Given the description of an element on the screen output the (x, y) to click on. 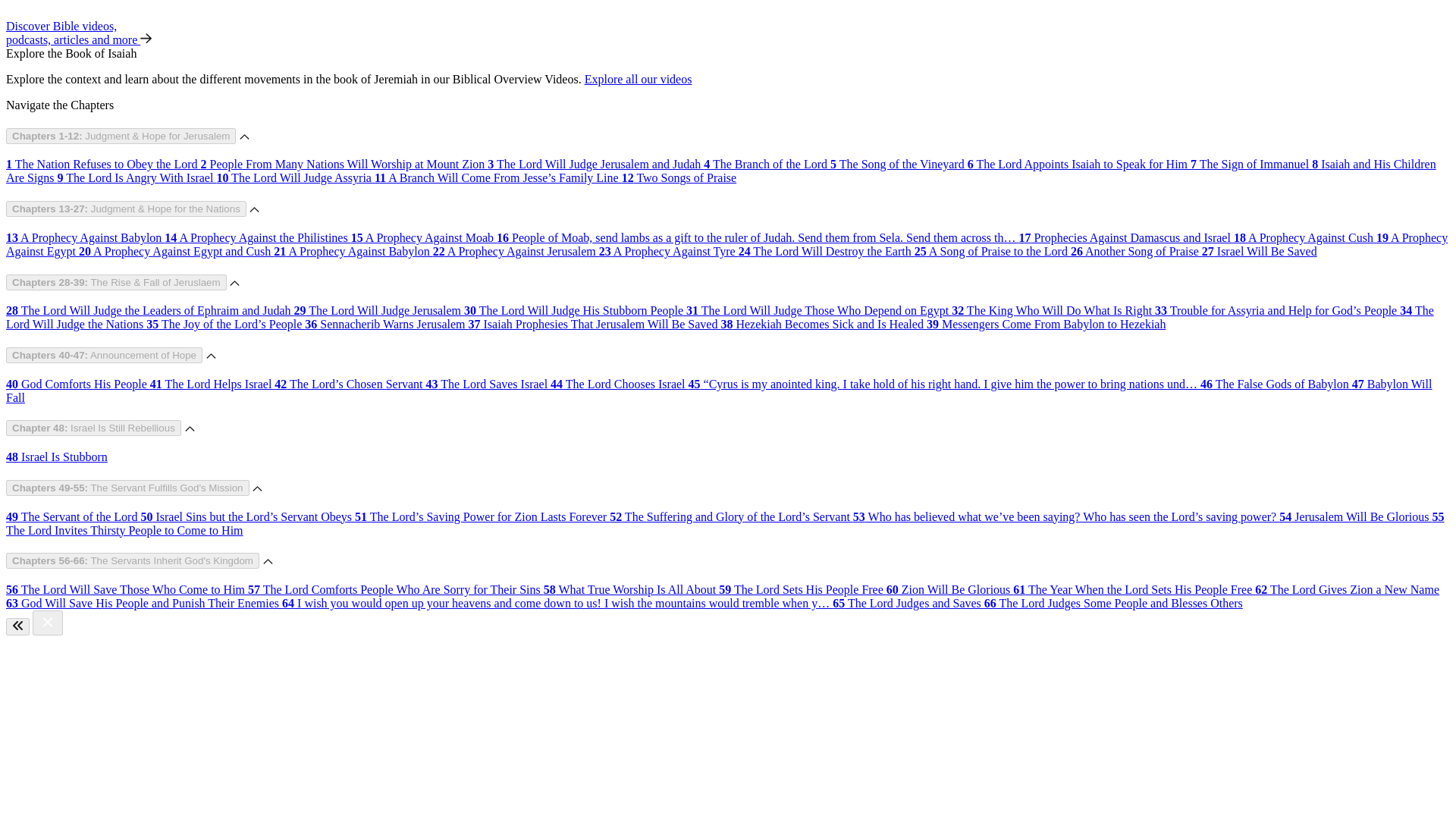
Explore all our videos (639, 78)
9 The Lord Is Angry With Israel (137, 177)
18 A Prophecy Against Cush (1304, 237)
3 The Lord Will Judge Jerusalem and Judah (595, 164)
13 A Prophecy Against Babylon (84, 237)
1 The Nation Refuses to Obey the Lord (102, 164)
23 A Prophecy Against Tyre (668, 250)
8 Isaiah and His Children Are Signs (720, 171)
30 The Lord Will Judge His Stubborn People (574, 309)
Explore all our videos (639, 78)
